Given the description of an element on the screen output the (x, y) to click on. 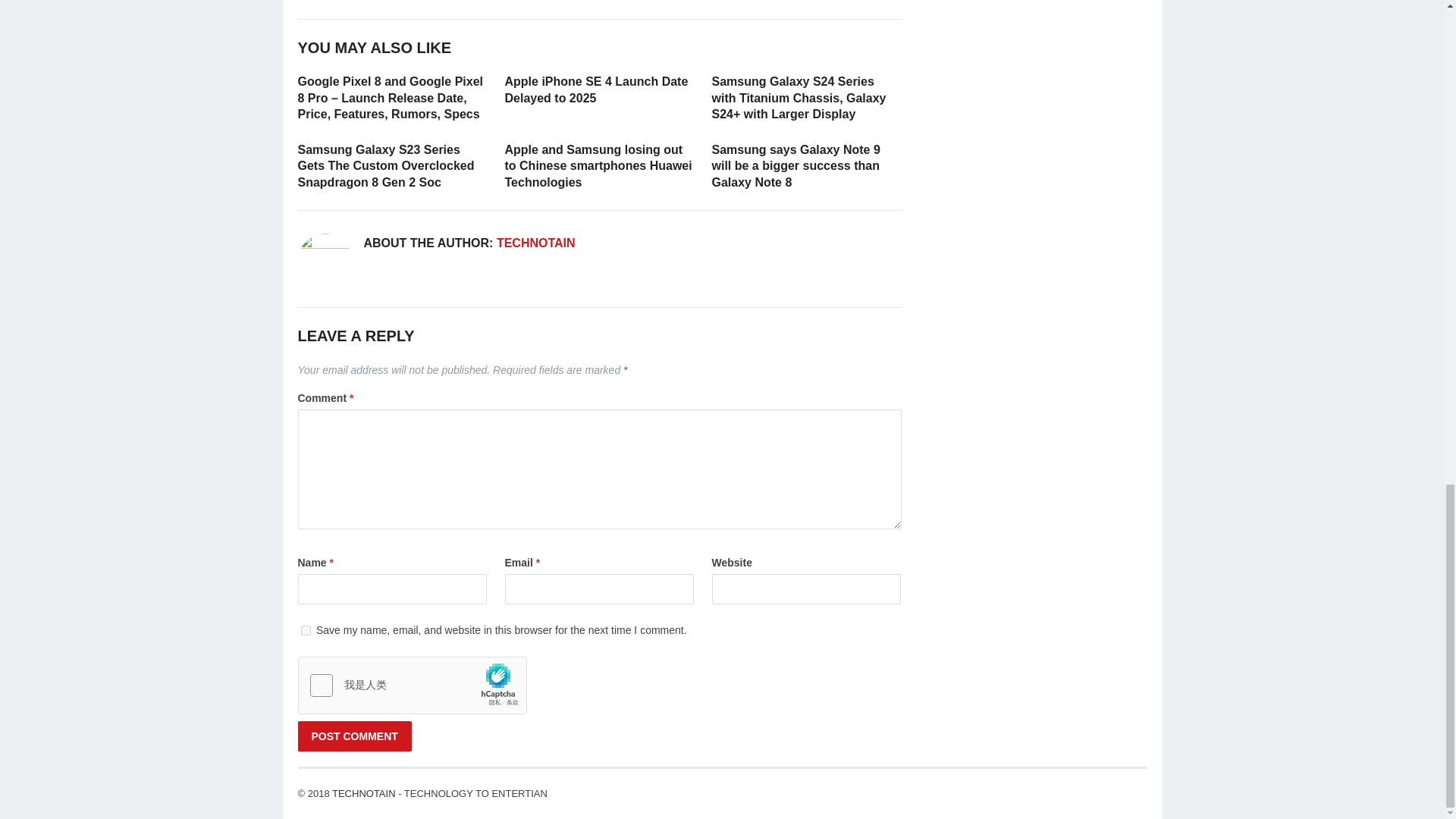
yes (304, 630)
TECHNOTAIN (535, 242)
Post Comment (353, 736)
Apple iPhone SE 4 Launch Date Delayed to 2025 (596, 89)
Post Comment (353, 736)
